Given the description of an element on the screen output the (x, y) to click on. 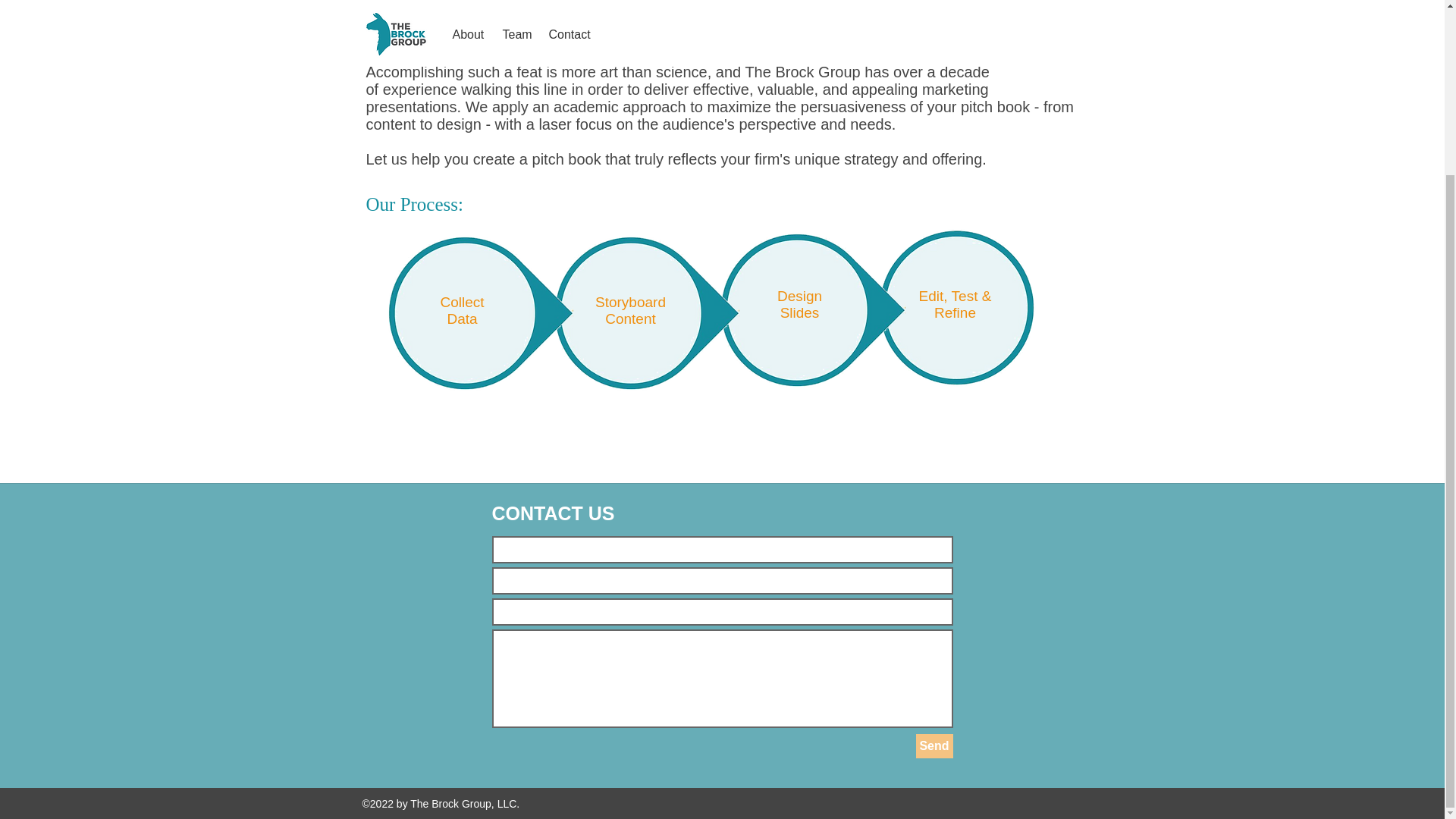
Send (934, 745)
